Given the description of an element on the screen output the (x, y) to click on. 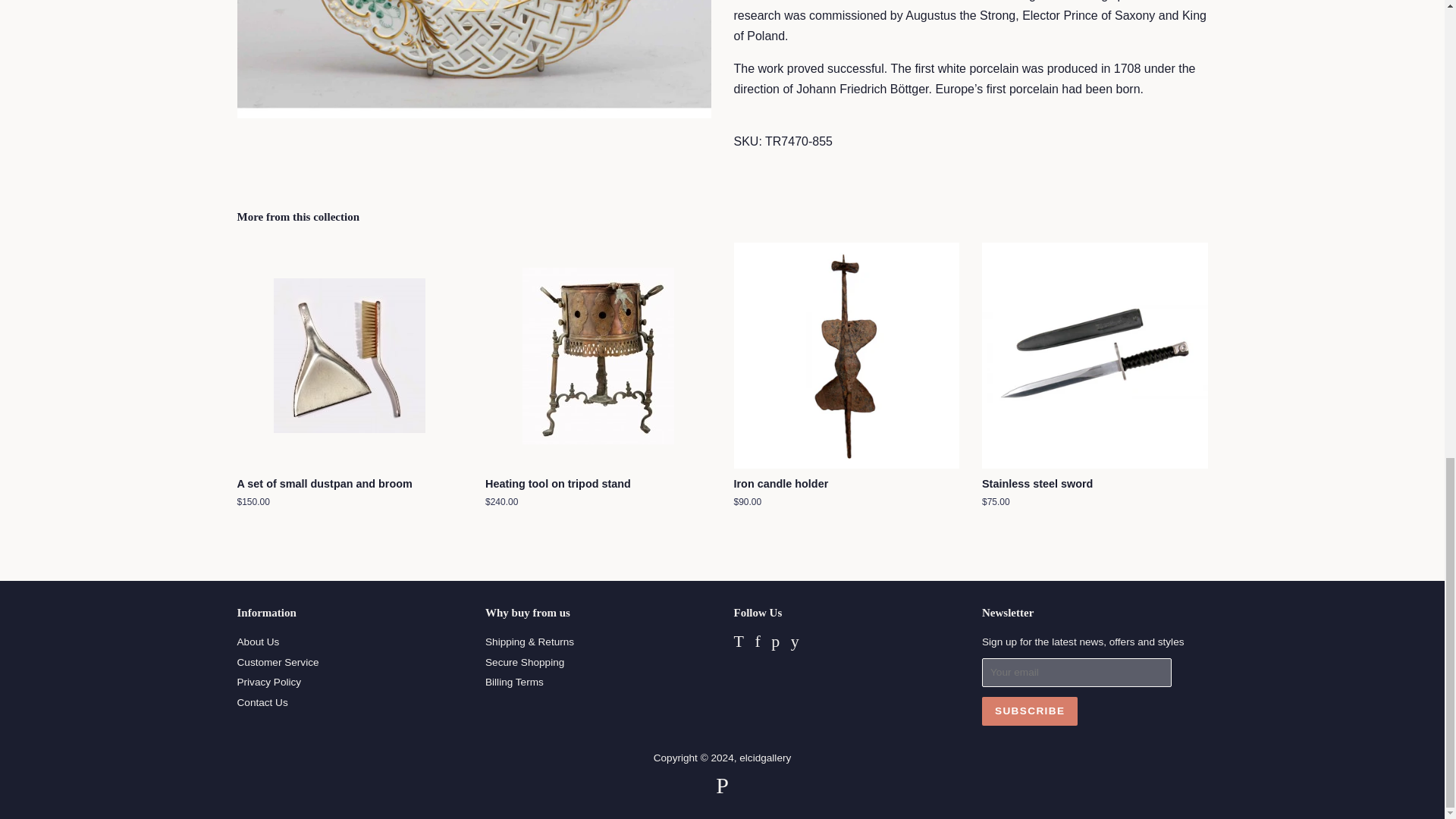
Contact Us (260, 702)
Secure Shopping (524, 662)
Privacy Policy (268, 681)
Customer Service (276, 662)
About Us (257, 641)
Subscribe (1029, 710)
Billing Terms (513, 681)
